Given the description of an element on the screen output the (x, y) to click on. 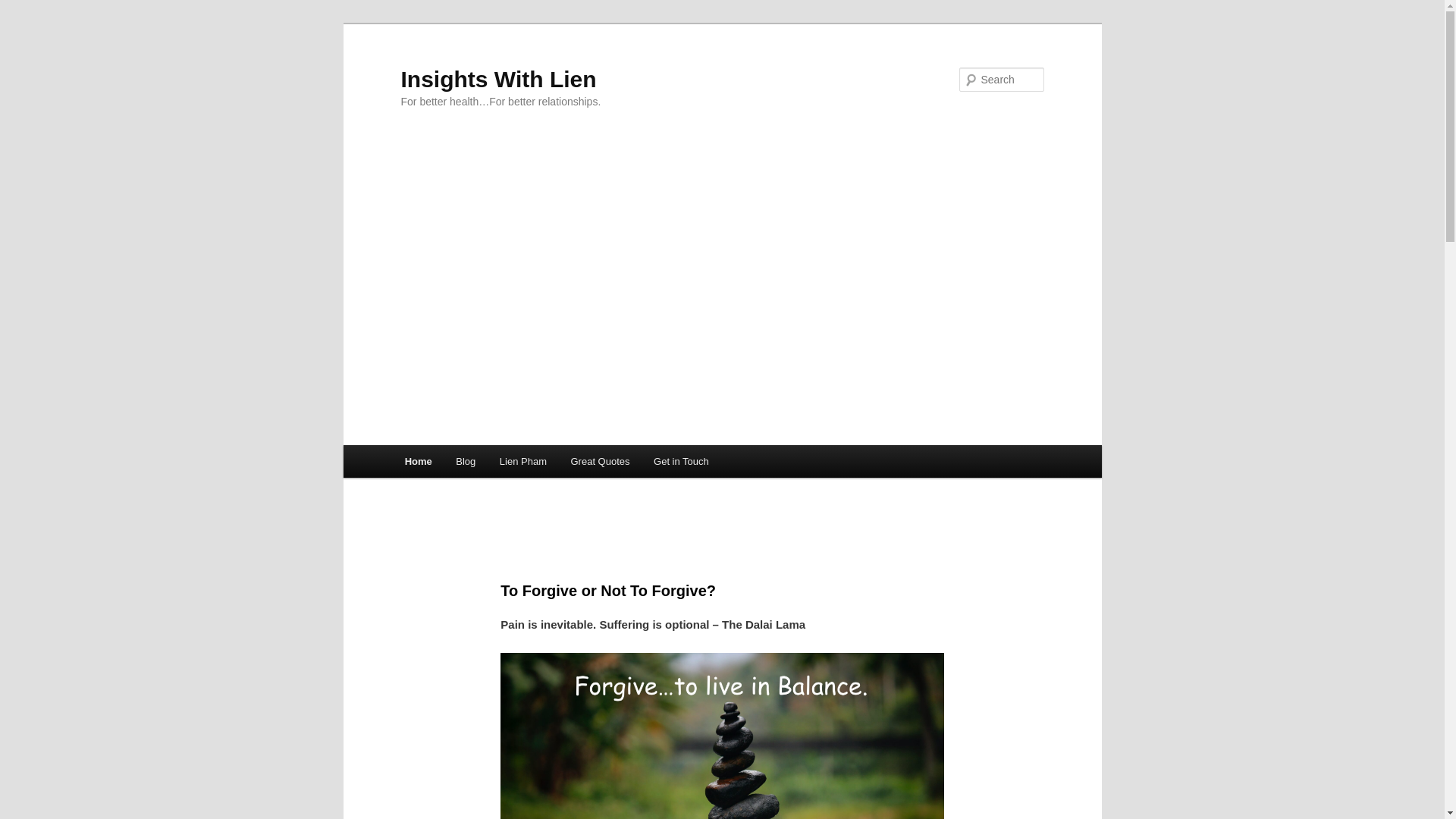
Blog (465, 461)
Home (418, 461)
Search (24, 8)
Great Quotes (600, 461)
Lien Pham (523, 461)
Insights With Lien (497, 78)
Lien Pham (523, 461)
Get in Touch (681, 461)
Home (418, 461)
